Given the description of an element on the screen output the (x, y) to click on. 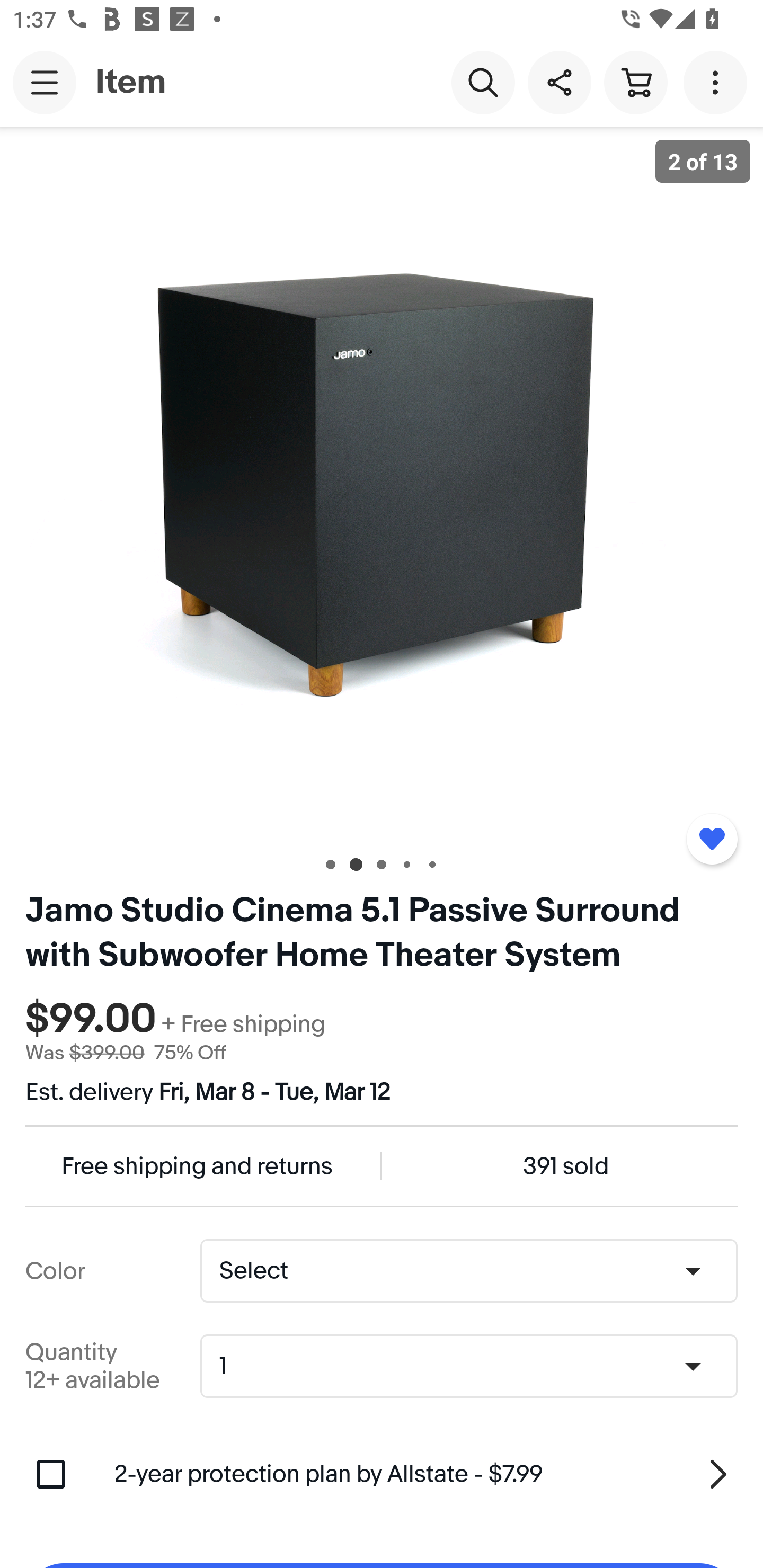
Main navigation, open (44, 82)
Search (482, 81)
Share this item (559, 81)
Cart button shopping cart (635, 81)
More options (718, 81)
Item image 2 of 13 (381, 482)
Added to watchlist (711, 838)
Color,No selection Select (468, 1270)
Quantity,1,12+ available 1 (474, 1365)
2-year protection plan by Allstate - $7.99 (425, 1473)
